Given the description of an element on the screen output the (x, y) to click on. 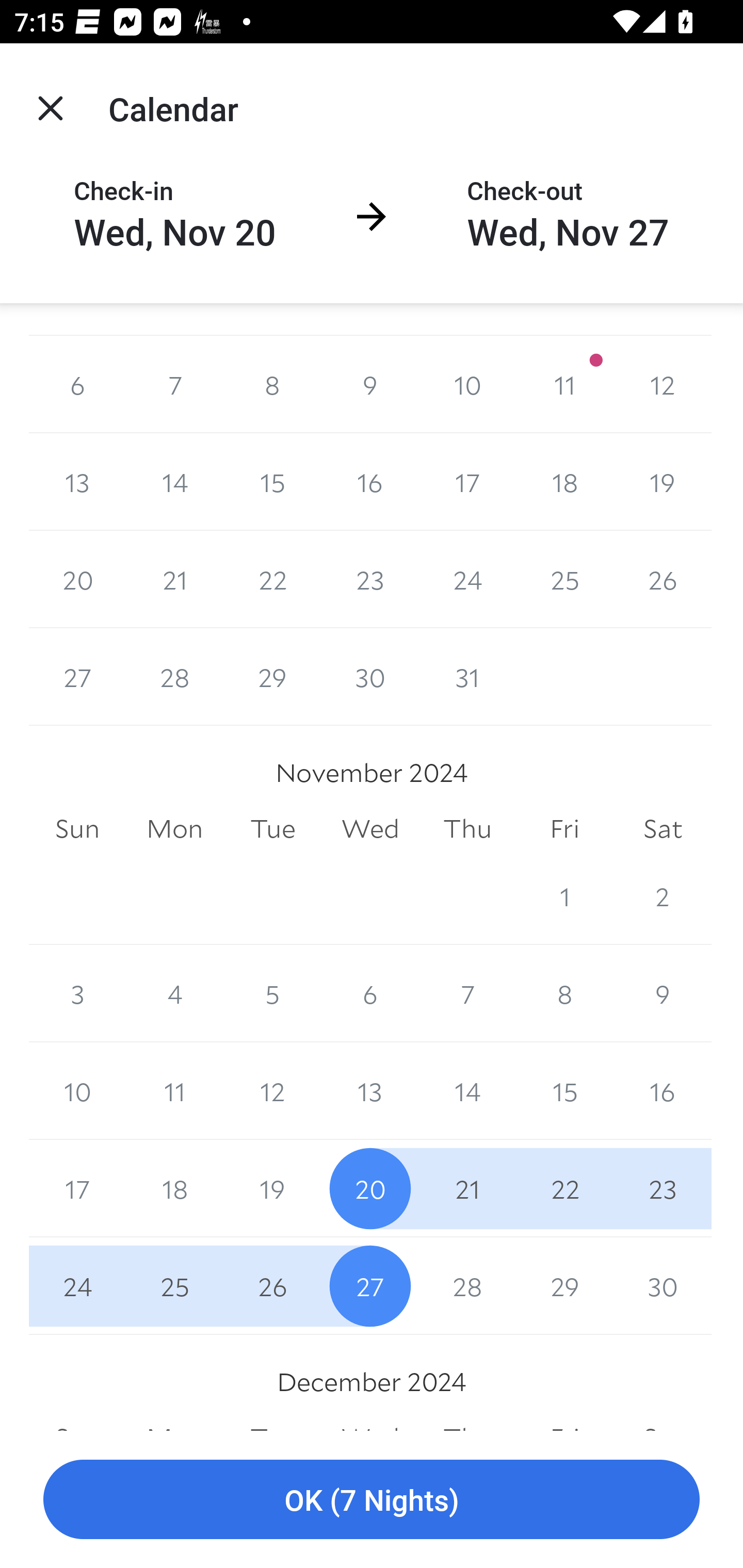
6 6 October 2024 (77, 383)
7 7 October 2024 (174, 383)
8 8 October 2024 (272, 383)
9 9 October 2024 (370, 383)
10 10 October 2024 (467, 383)
11 11 October 2024 (564, 383)
12 12 October 2024 (662, 383)
13 13 October 2024 (77, 480)
14 14 October 2024 (174, 480)
15 15 October 2024 (272, 480)
16 16 October 2024 (370, 480)
17 17 October 2024 (467, 480)
18 18 October 2024 (564, 480)
19 19 October 2024 (662, 480)
20 20 October 2024 (77, 578)
21 21 October 2024 (174, 578)
22 22 October 2024 (272, 578)
23 23 October 2024 (370, 578)
24 24 October 2024 (467, 578)
25 25 October 2024 (564, 578)
26 26 October 2024 (662, 578)
27 27 October 2024 (77, 676)
28 28 October 2024 (174, 676)
29 29 October 2024 (272, 676)
30 30 October 2024 (370, 676)
31 31 October 2024 (467, 676)
Sun (77, 828)
Mon (174, 828)
Tue (272, 828)
Wed (370, 828)
Thu (467, 828)
Fri (564, 828)
Sat (662, 828)
1 1 November 2024 (564, 895)
2 2 November 2024 (662, 895)
3 3 November 2024 (77, 993)
4 4 November 2024 (174, 993)
5 5 November 2024 (272, 993)
6 6 November 2024 (370, 993)
7 7 November 2024 (467, 993)
8 8 November 2024 (564, 993)
9 9 November 2024 (662, 993)
10 10 November 2024 (77, 1090)
11 11 November 2024 (174, 1090)
12 12 November 2024 (272, 1090)
13 13 November 2024 (370, 1090)
14 14 November 2024 (467, 1090)
15 15 November 2024 (564, 1090)
16 16 November 2024 (662, 1090)
